Given the description of an element on the screen output the (x, y) to click on. 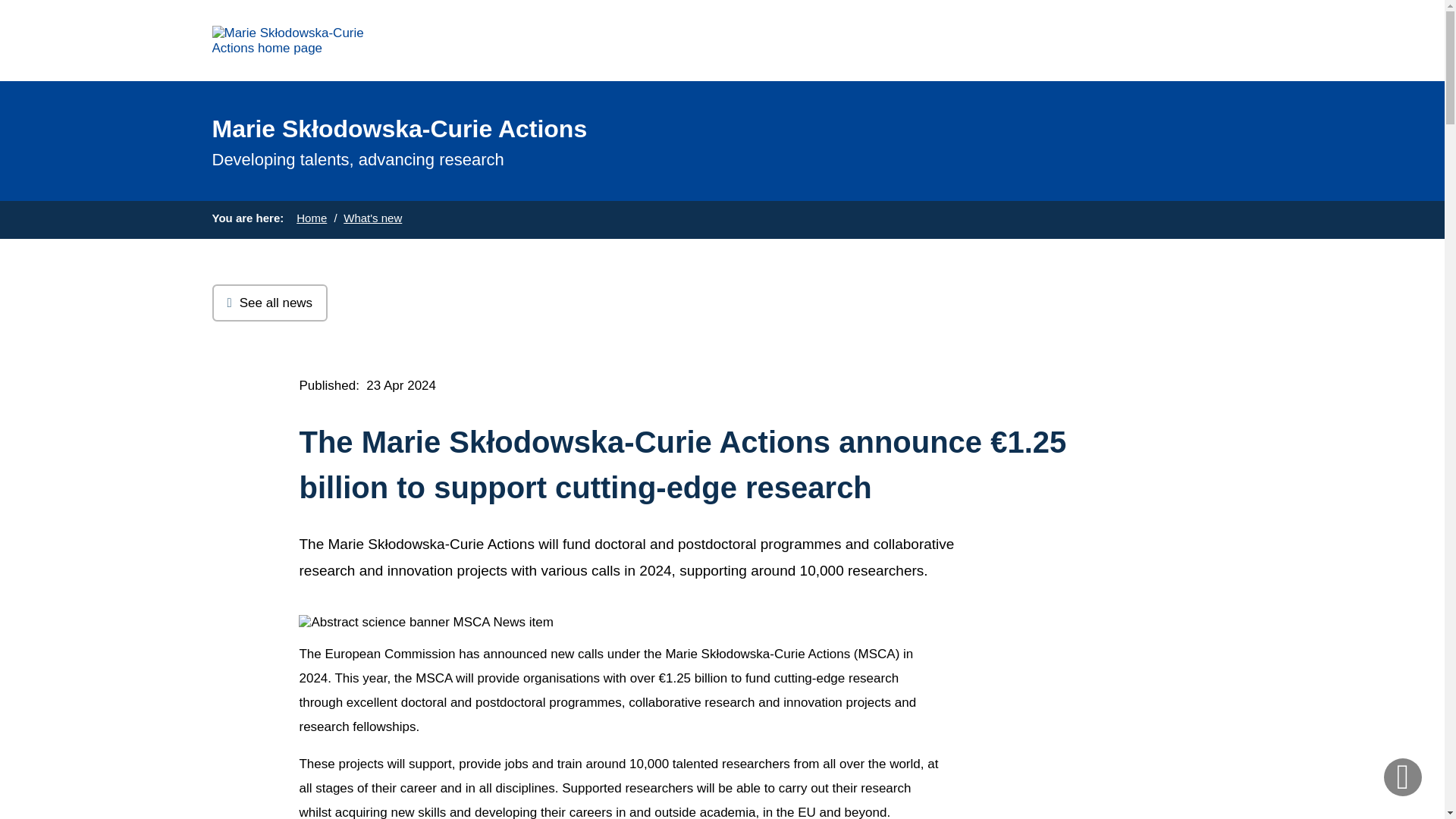
Home (311, 217)
What's new (372, 217)
See all news (270, 303)
Skip to main content (6, 6)
